Given the description of an element on the screen output the (x, y) to click on. 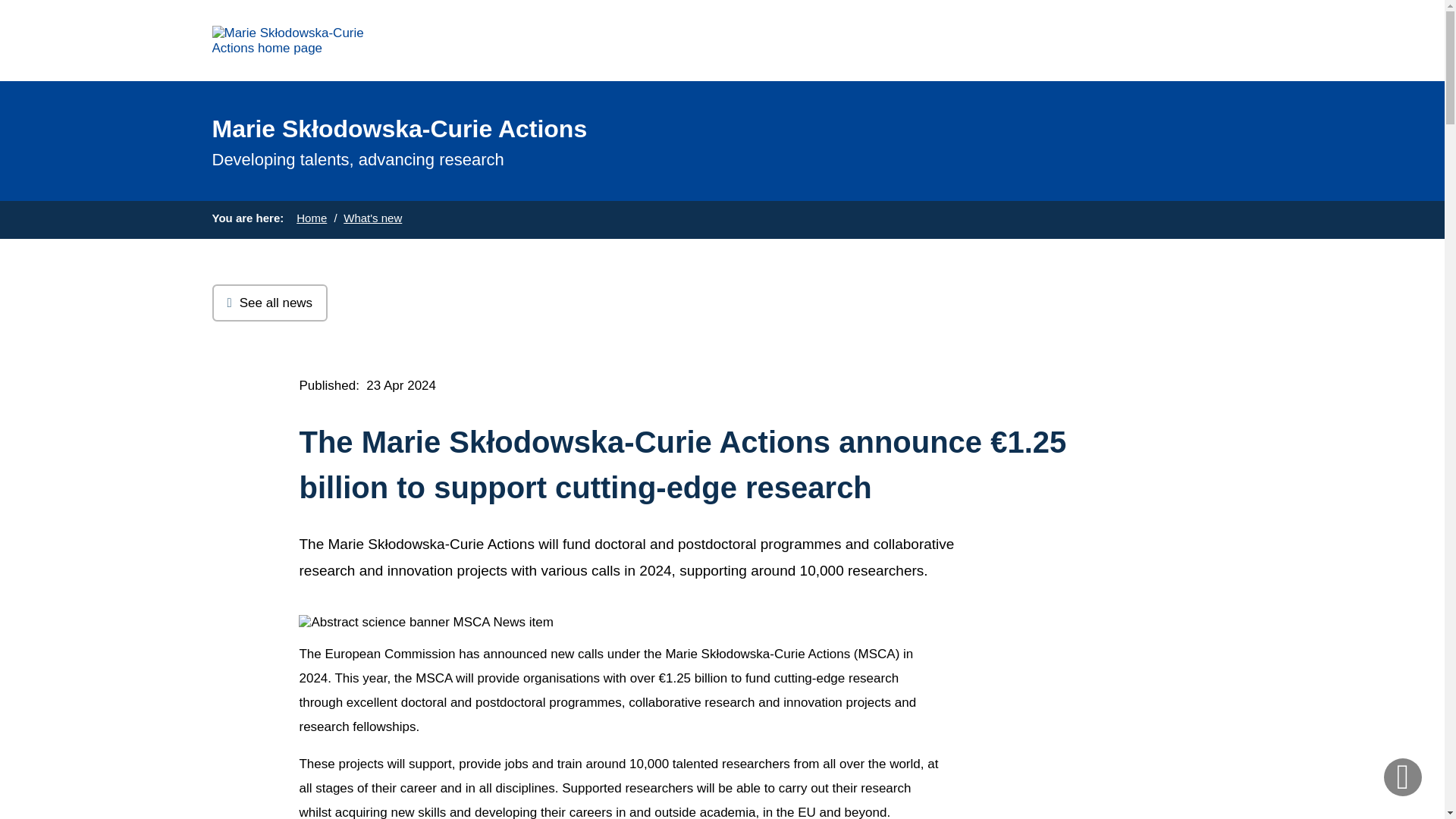
Home (311, 217)
What's new (372, 217)
See all news (270, 303)
Skip to main content (6, 6)
